Given the description of an element on the screen output the (x, y) to click on. 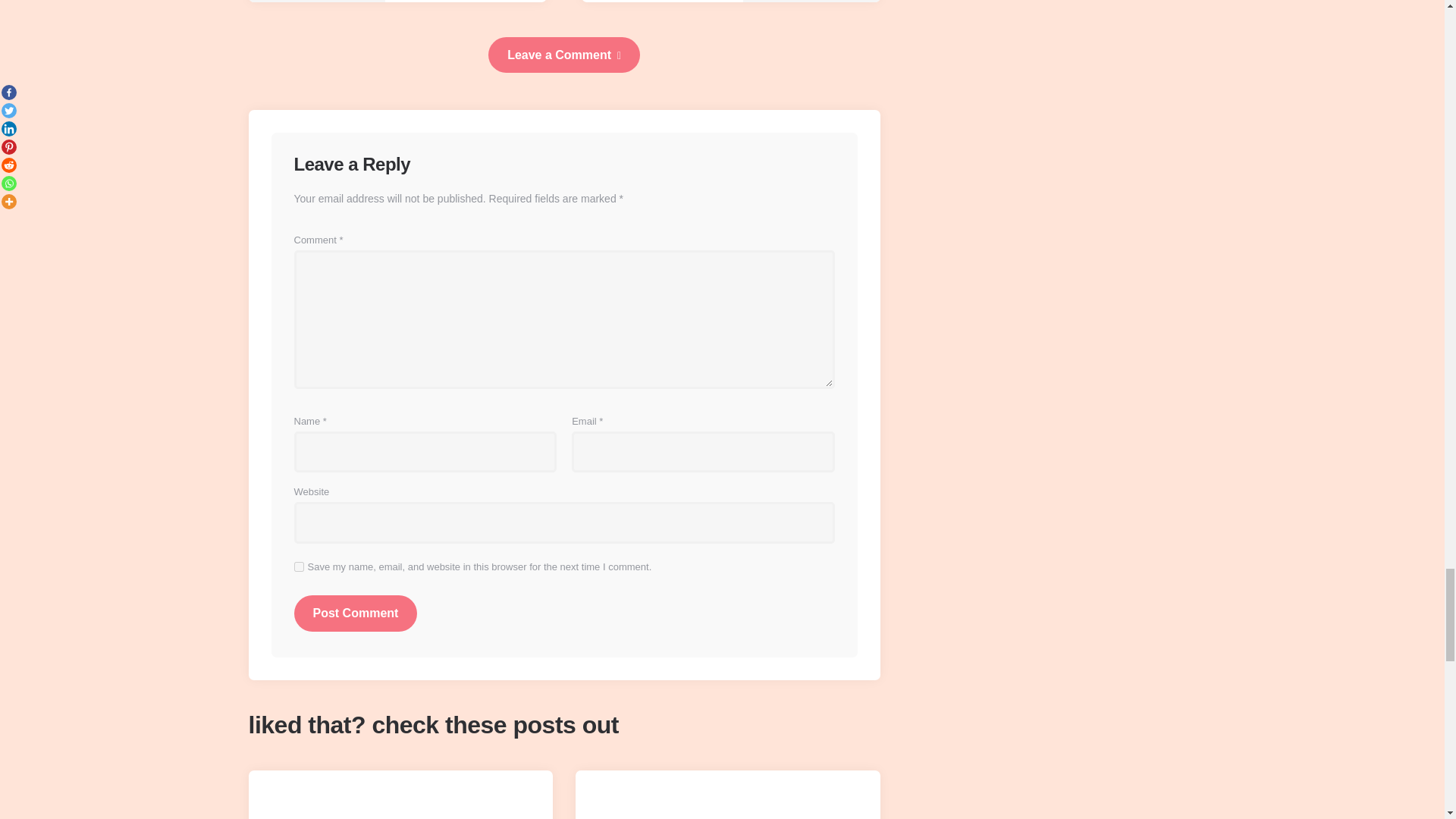
yes (299, 566)
Post Comment (355, 613)
